Given the description of an element on the screen output the (x, y) to click on. 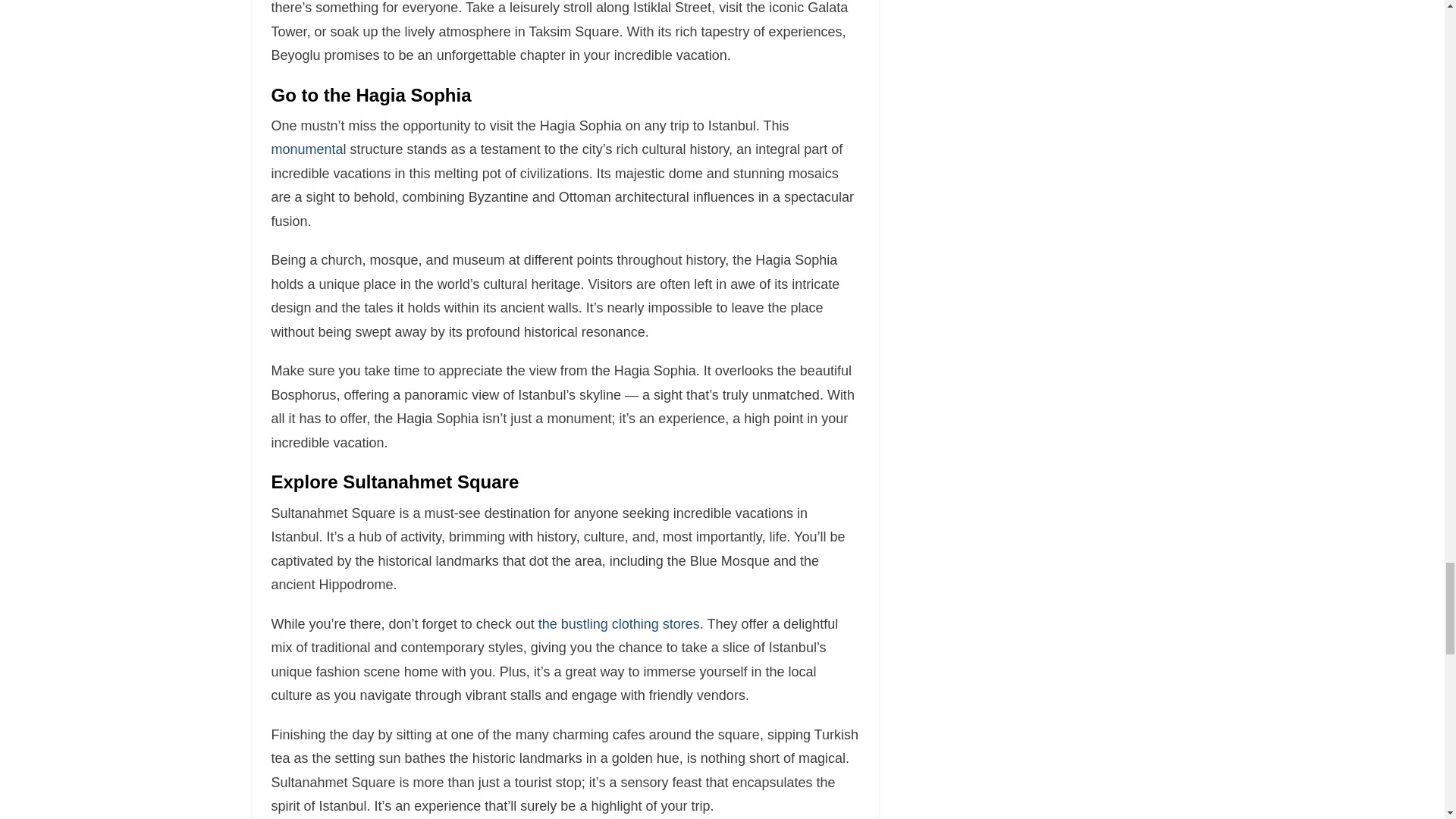
monumenta (306, 149)
the bustling clothing stores (617, 623)
